Given the description of an element on the screen output the (x, y) to click on. 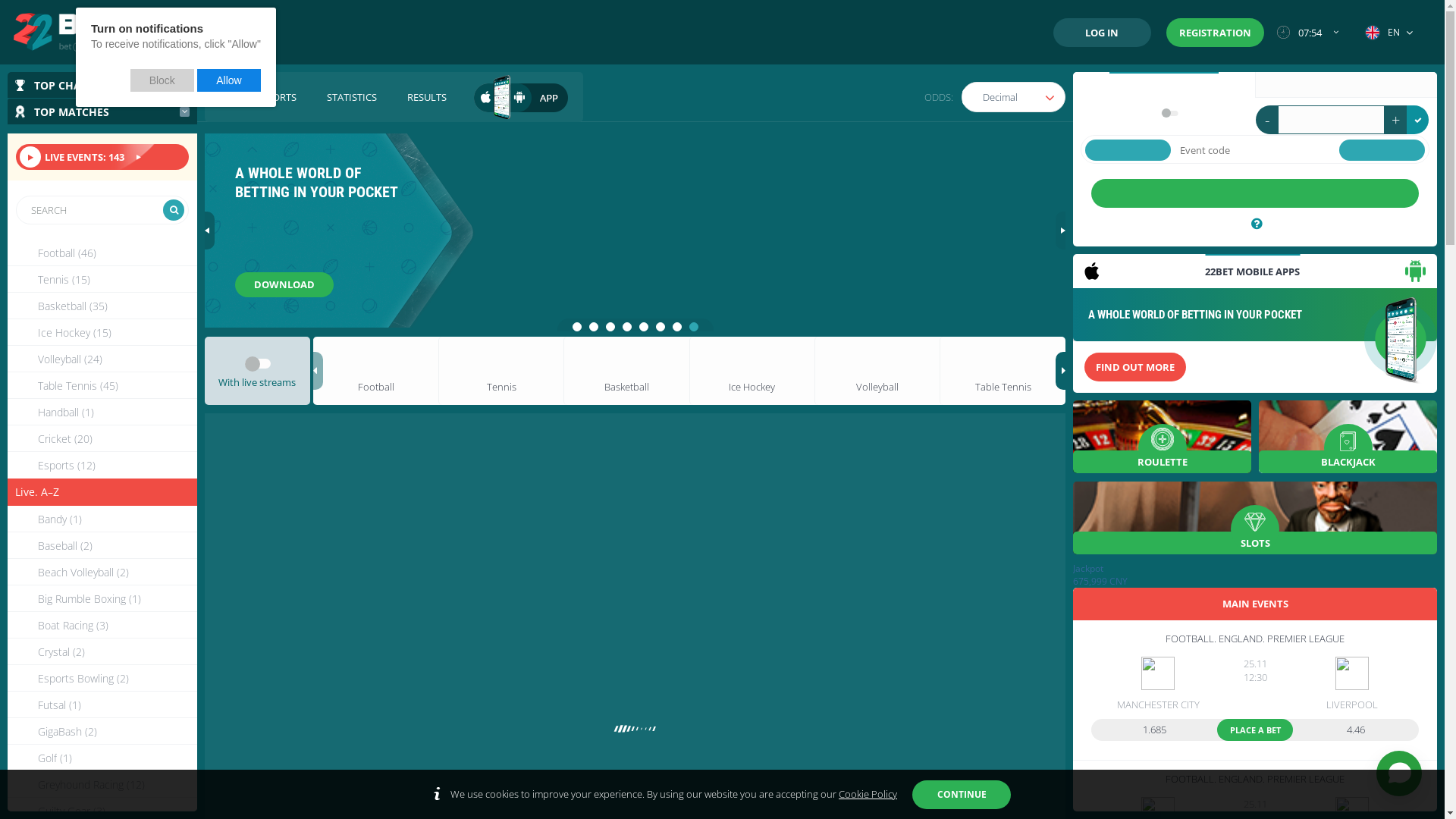
FIND OUT MORE Element type: text (285, 282)
Cricket
(20) Element type: text (102, 438)
Allow Element type: text (228, 80)
Ice Hockey
(15) Element type: text (102, 332)
Jackpot
675,999 CNY Element type: text (1255, 574)
Esports Bowling
(2) Element type: text (102, 678)
Bandy
(1) Element type: text (102, 518)
Ice Hockey Element type: text (751, 370)
Crystal
(2) Element type: text (102, 651)
LIVE EVENTS: 143 Element type: text (101, 156)
Volleyball
(24) Element type: text (102, 358)
Basketball
(35) Element type: text (102, 305)
Football
(46) Element type: text (102, 252)
Table Tennis
(45) Element type: text (102, 385)
Esports
(12) Element type: text (102, 464)
Football Element type: text (375, 370)
Greyhound Racing
(12) Element type: text (102, 784)
Volleyball Element type: text (876, 370)
Beach Volleyball
(2) Element type: text (102, 571)
Boat Racing
(3) Element type: text (102, 624)
Block Element type: text (162, 80)
FIND OUT MORE Element type: text (1135, 366)
Handball
(1) Element type: text (102, 411)
GigaBash
(2) Element type: text (102, 731)
ROULETTE Element type: text (1162, 436)
BLACKJACK Element type: text (1347, 436)
Tennis Element type: text (500, 370)
VIRTUAL SPORTS Element type: text (257, 97)
STATISTICS Element type: text (351, 97)
Baseball
(2) Element type: text (102, 545)
Cookie Policy Element type: text (867, 793)
REGISTRATION Element type: text (1215, 32)
Basketball Element type: text (625, 370)
Futsal
(1) Element type: text (102, 704)
Golf
(1) Element type: text (102, 757)
SLOTS Element type: text (1255, 517)
RESULTS Element type: text (426, 97)
Big Rumble Boxing
(1) Element type: text (102, 598)
Tennis
(15) Element type: text (102, 279)
Table Tennis Element type: text (1001, 370)
